Given the description of an element on the screen output the (x, y) to click on. 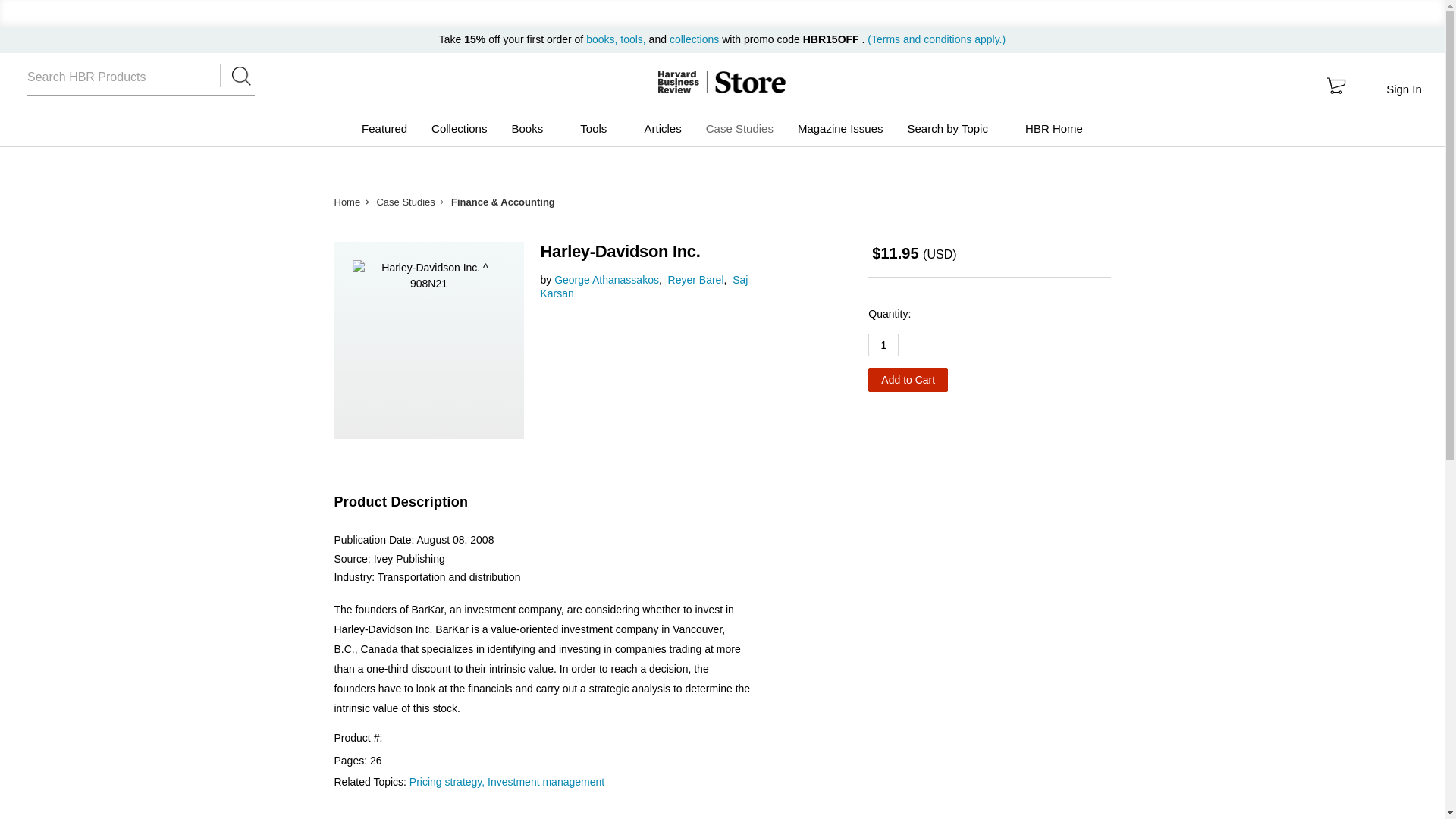
Collections (459, 128)
Featured (384, 128)
books, (603, 39)
tools, (632, 39)
collections (694, 39)
Sign In (1403, 88)
Add to Cart (907, 379)
Books (533, 128)
Tools (599, 128)
HBR.ORG - Prod (678, 81)
